Given the description of an element on the screen output the (x, y) to click on. 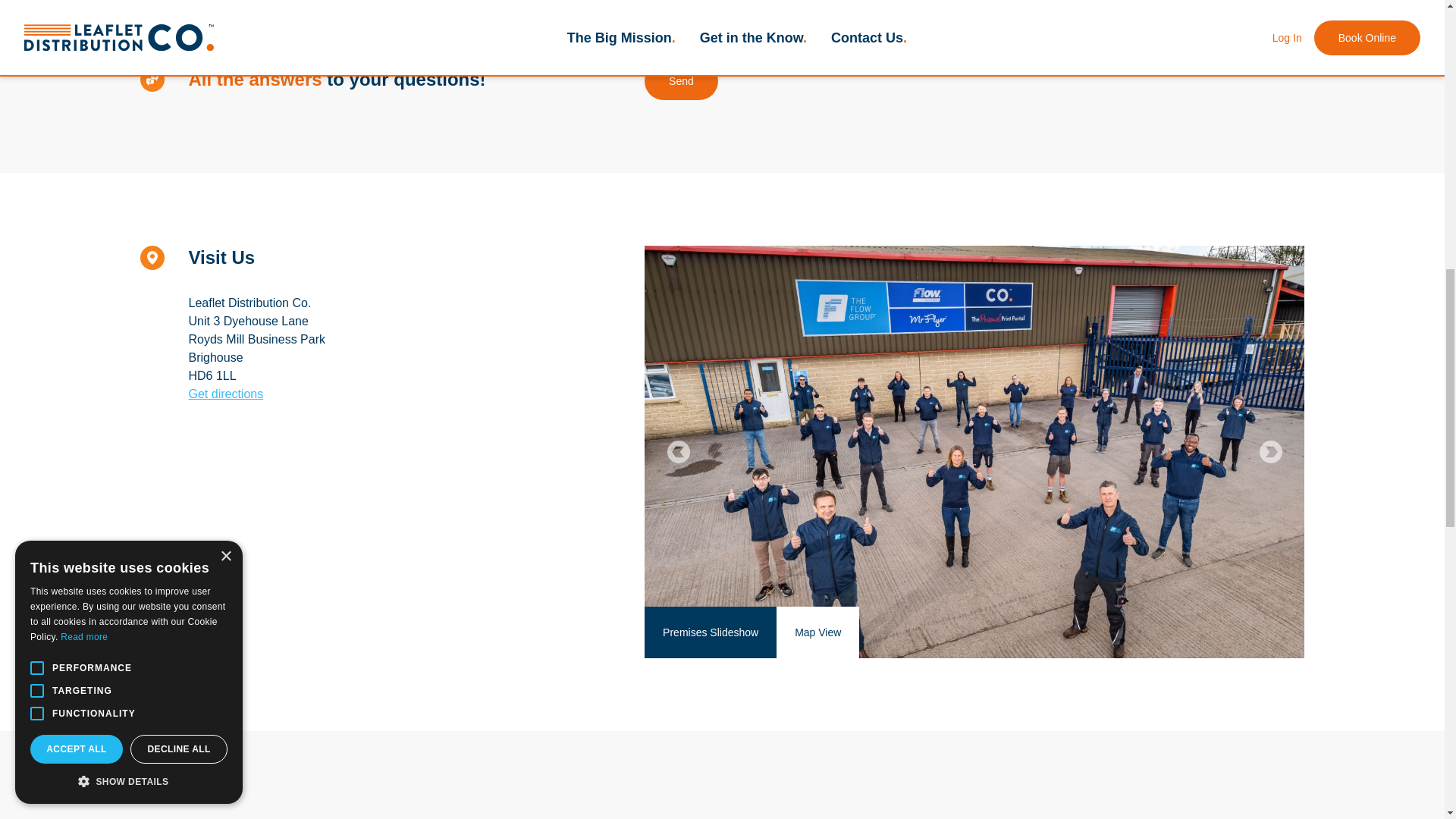
Get directions (225, 393)
OpenStreetMap (1184, 650)
Improve this map (1262, 650)
0800 080 3770 (247, 8)
Send (681, 80)
All the answers (254, 78)
Map View (817, 632)
Premises Slideshow (710, 632)
Mapbox (1124, 650)
